Given the description of an element on the screen output the (x, y) to click on. 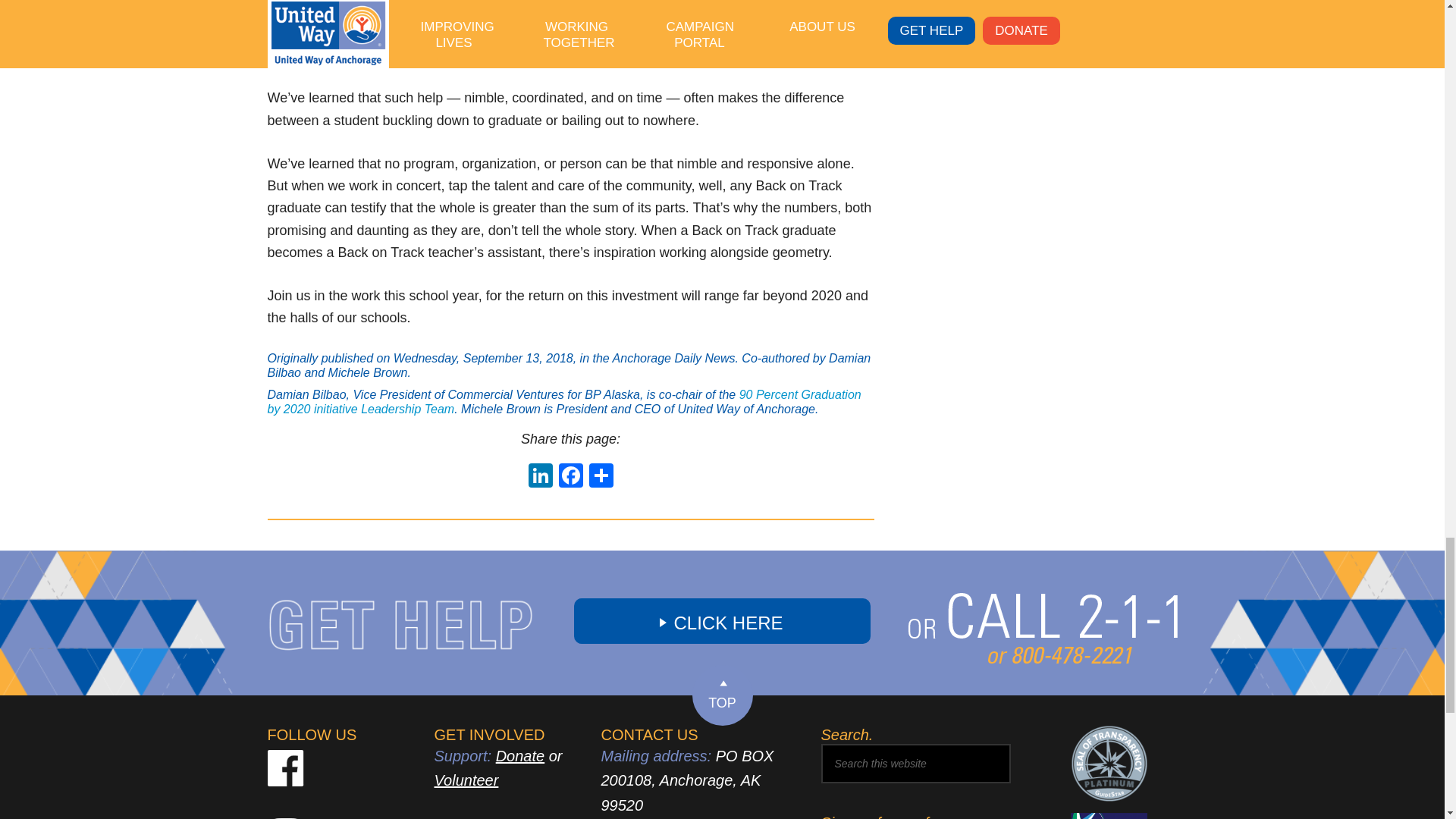
TOP (721, 695)
LinkedIn (539, 477)
Facebook (569, 477)
Volunteer (465, 780)
Get Help at the 211 website. (721, 620)
Top of Page (721, 695)
Donate (520, 755)
Call to get help. (1043, 679)
